Given the description of an element on the screen output the (x, y) to click on. 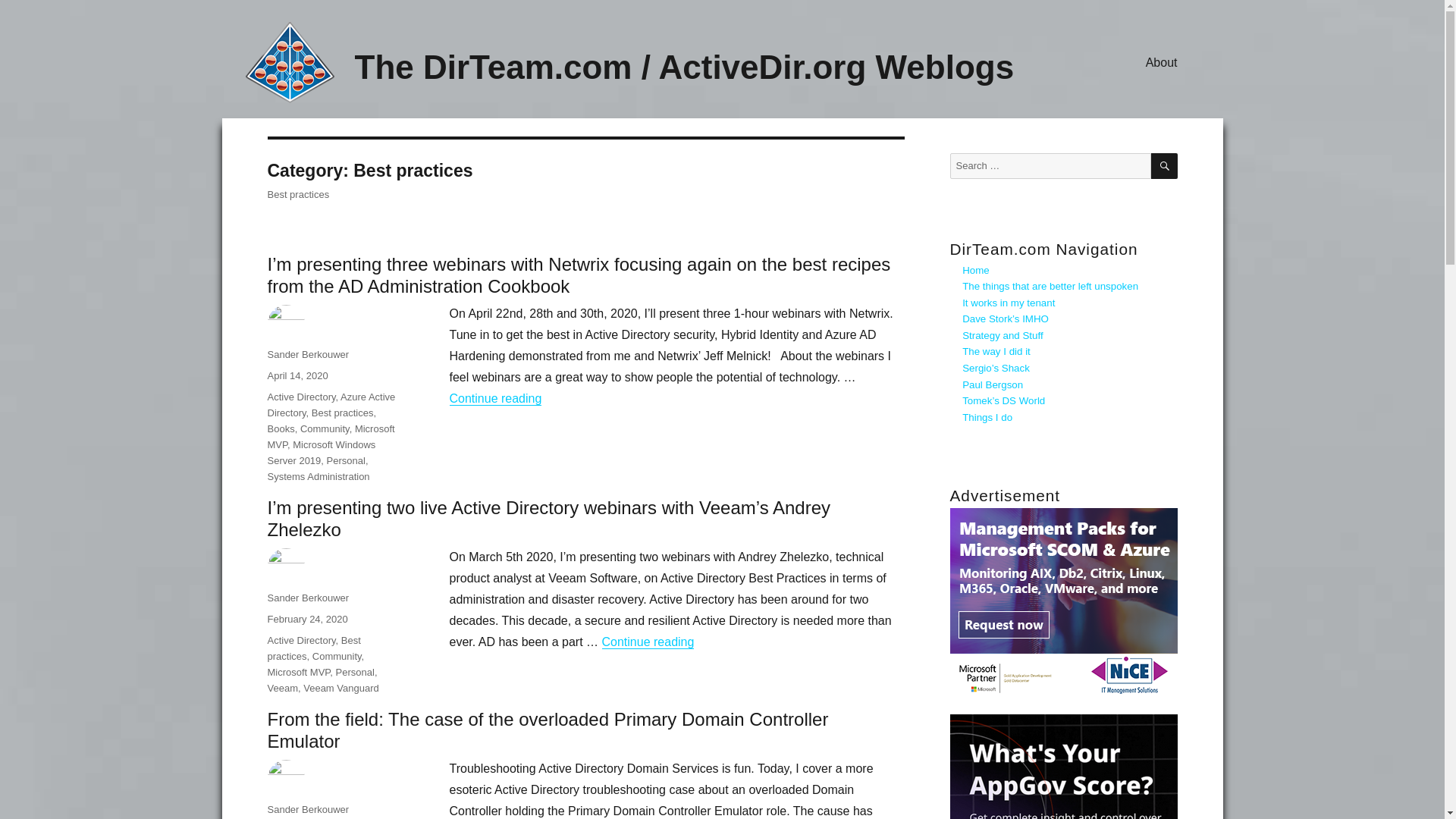
Veeam Vanguard (340, 687)
Best practices (312, 647)
February 24, 2020 (306, 618)
Community (324, 428)
Sander Berkouwer (307, 354)
Sander Berkouwer (307, 597)
Community (337, 655)
Active Directory (300, 396)
Personal (355, 672)
Microsoft Windows Server 2019 (320, 452)
Azure Active Directory (330, 404)
About (1161, 61)
Microsoft MVP (298, 672)
Personal (345, 460)
Books (280, 428)
